Given the description of an element on the screen output the (x, y) to click on. 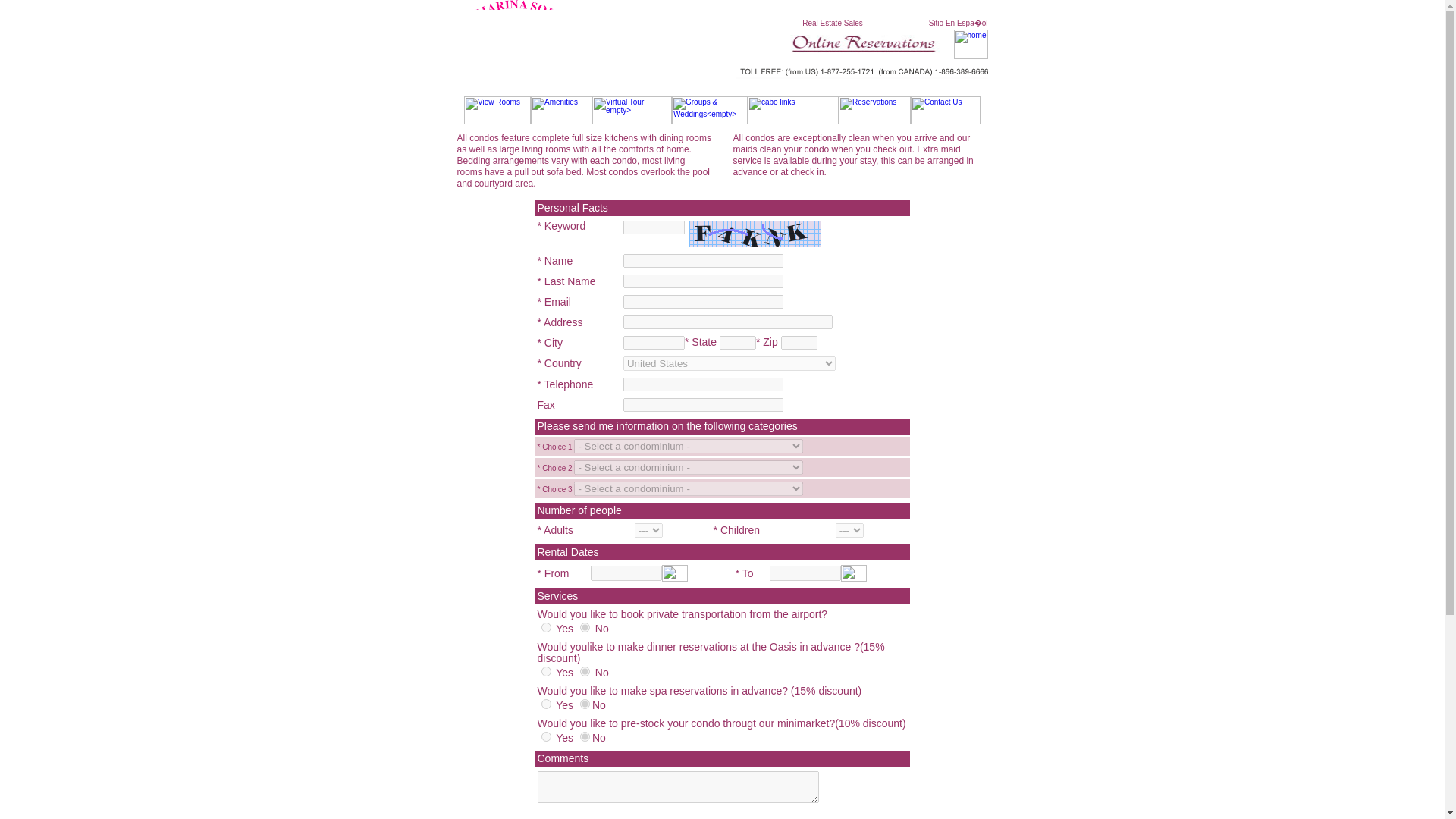
no (584, 704)
yes (546, 737)
no (584, 671)
no (584, 737)
yes (546, 704)
yes (546, 671)
no (584, 627)
yes (546, 627)
Real Estate Sales (832, 22)
